Given the description of an element on the screen output the (x, y) to click on. 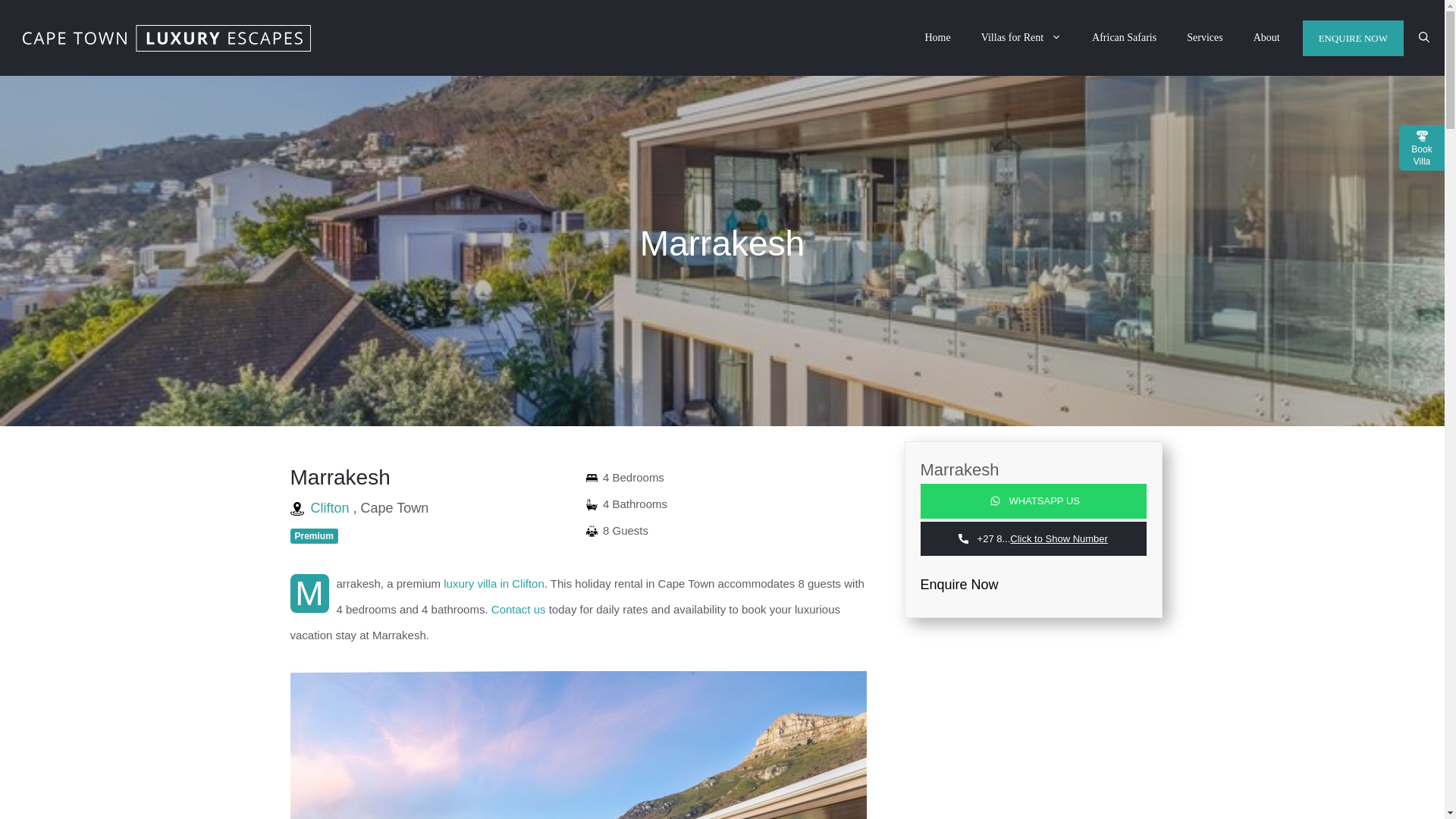
Cape Town Luxury Escapes (167, 37)
Header Enquire Now Button (1353, 37)
Villas for Rent (1021, 38)
African Safaris (1124, 38)
ENQUIRE NOW (1353, 37)
View our available rental villas in Clifton, Cape Town (494, 583)
Marrakesh (429, 477)
